Given the description of an element on the screen output the (x, y) to click on. 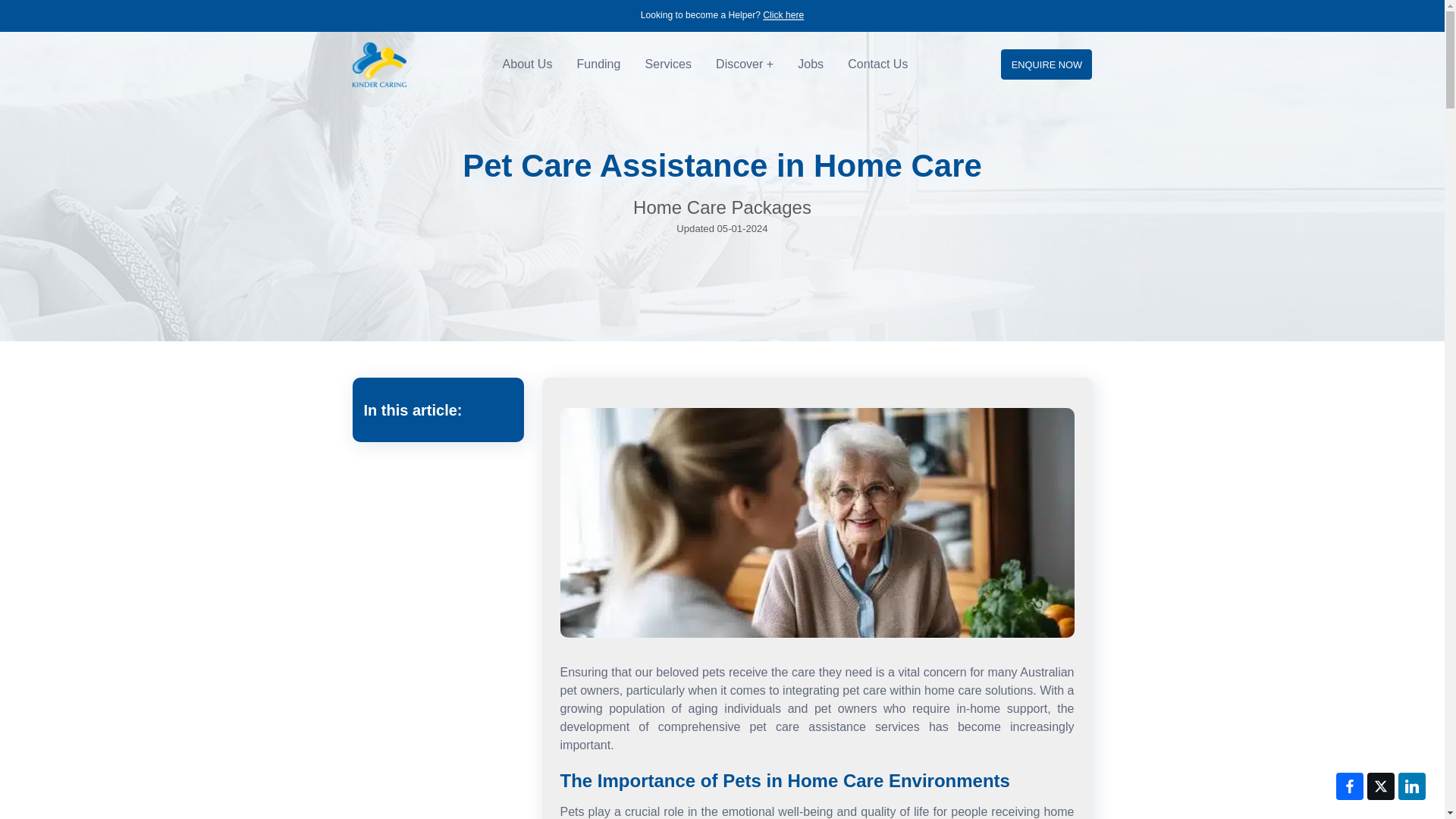
Click here (782, 15)
Contact Us (877, 64)
Share on Twitter (1380, 786)
Funding (598, 64)
Jobs (810, 64)
Share on Facebook (1349, 786)
About Us (527, 64)
Share on LinkedIn (1411, 786)
ENQUIRE NOW (1046, 64)
Services (668, 64)
